Given the description of an element on the screen output the (x, y) to click on. 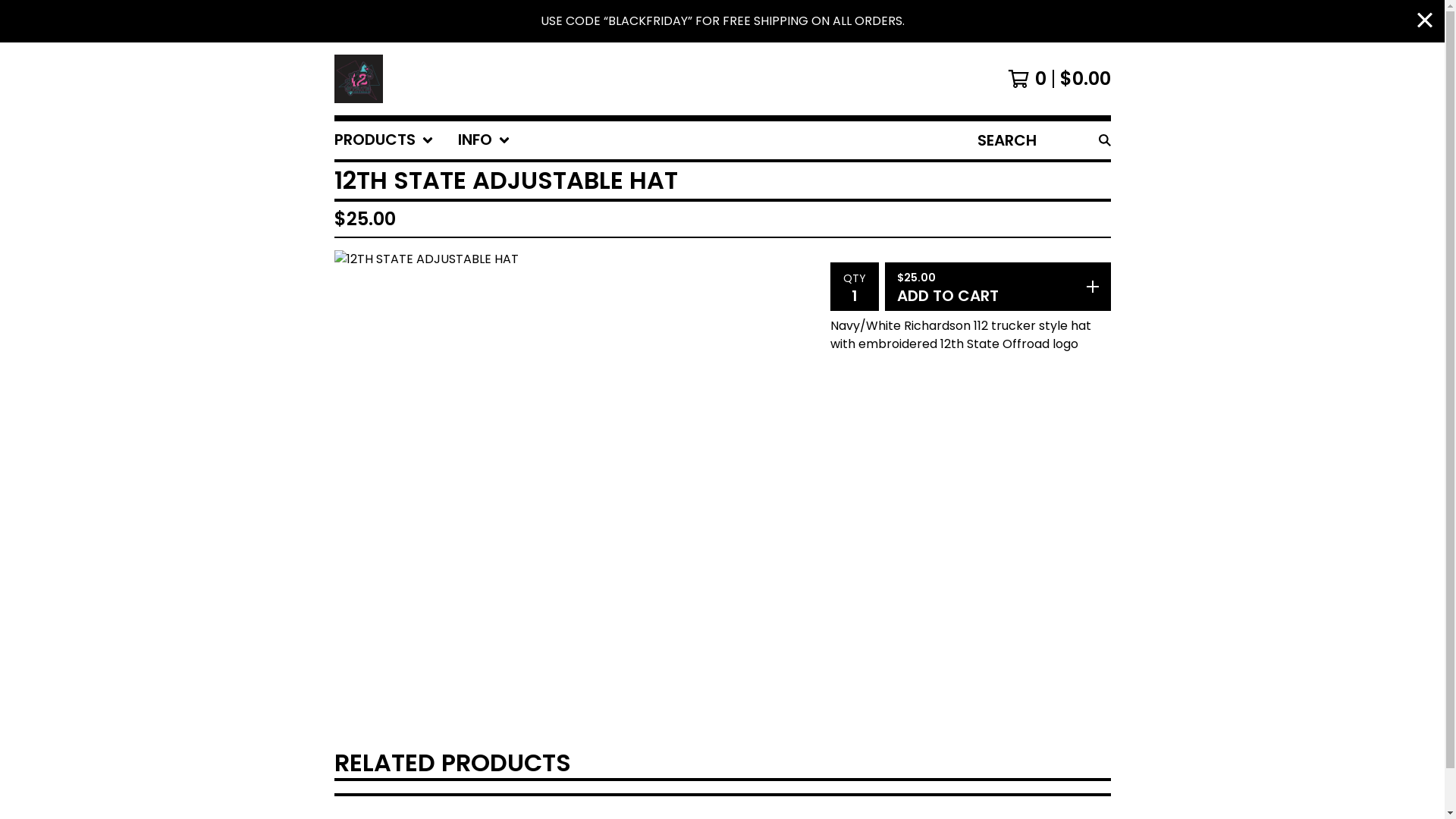
$25.00
ADD TO CART Element type: text (997, 286)
0
$0.00 Element type: text (1058, 78)
Search Element type: hover (1104, 140)
PRODUCTS Element type: text (383, 140)
INFO Element type: text (484, 140)
Close announcement message Element type: hover (1424, 20)
Home Element type: hover (357, 78)
